Given the description of an element on the screen output the (x, y) to click on. 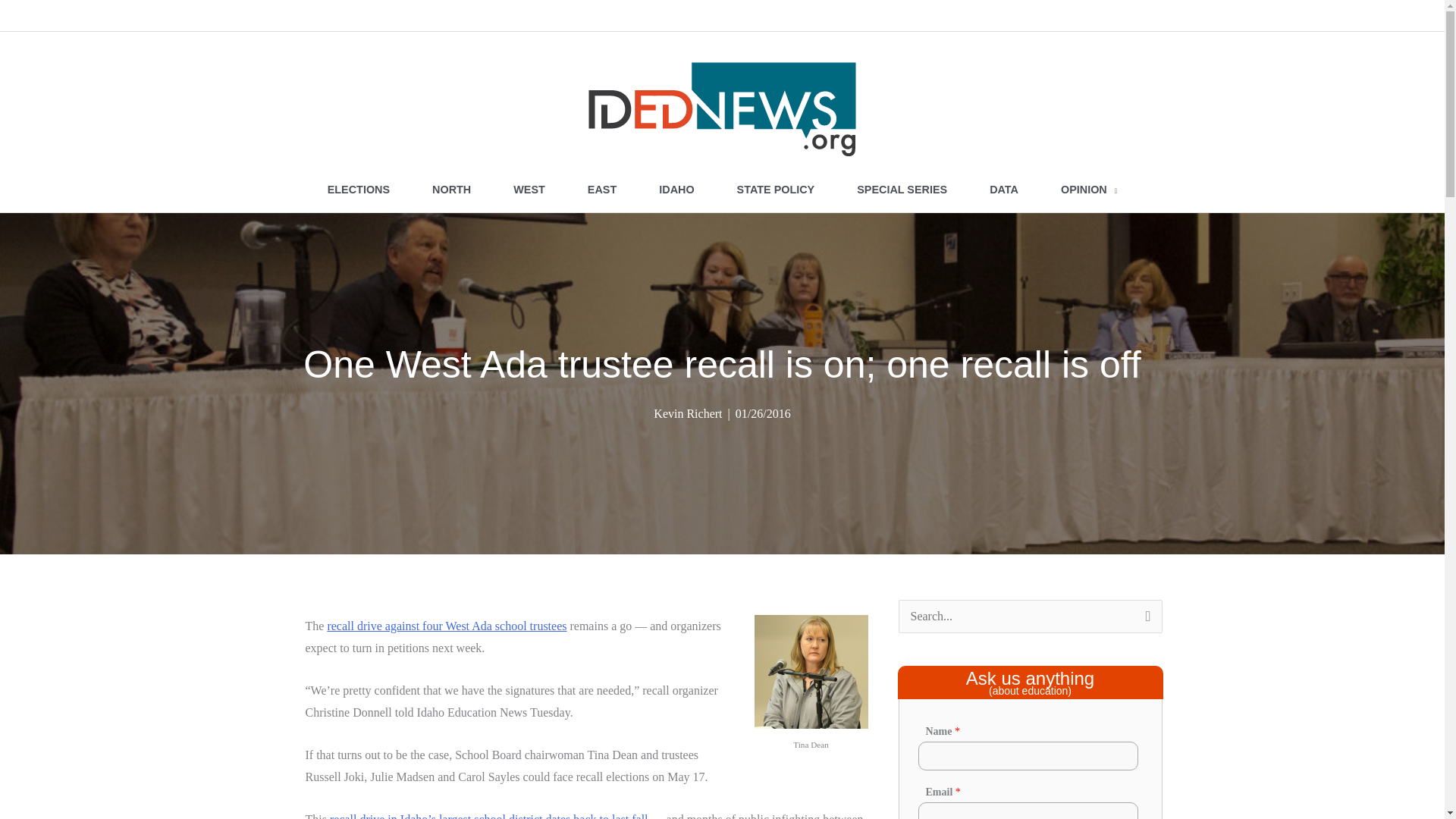
Kevin Richert (687, 413)
DATA (1003, 190)
NORTH (451, 190)
ELECTIONS (357, 190)
EAST (601, 190)
SPECIAL SERIES (901, 190)
WEST (529, 190)
OPINION (1088, 190)
STATE POLICY (775, 190)
recall drive against four West Ada school trustees (446, 625)
IDAHO (675, 190)
